Given the description of an element on the screen output the (x, y) to click on. 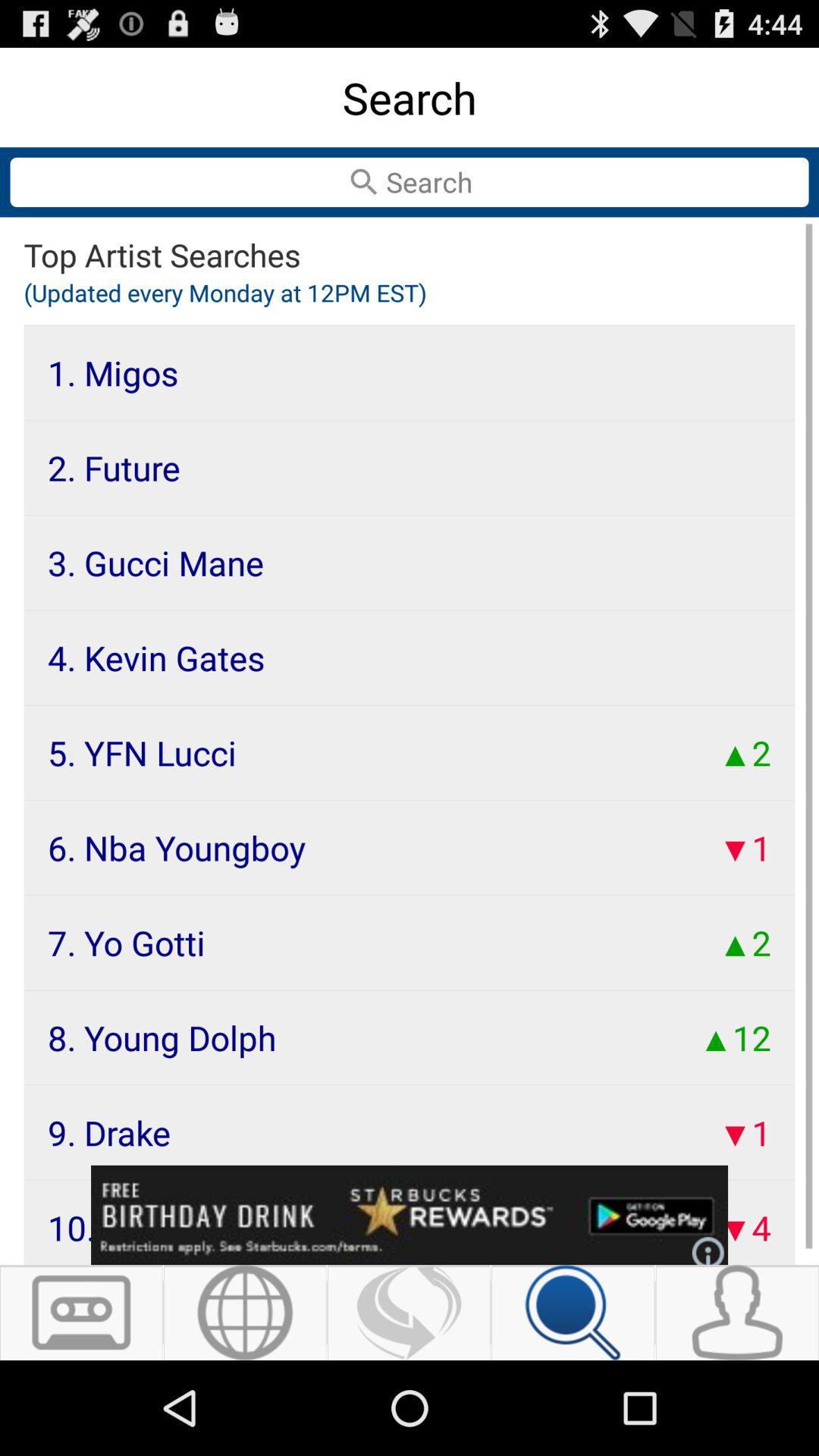
refresh results (408, 1312)
